Given the description of an element on the screen output the (x, y) to click on. 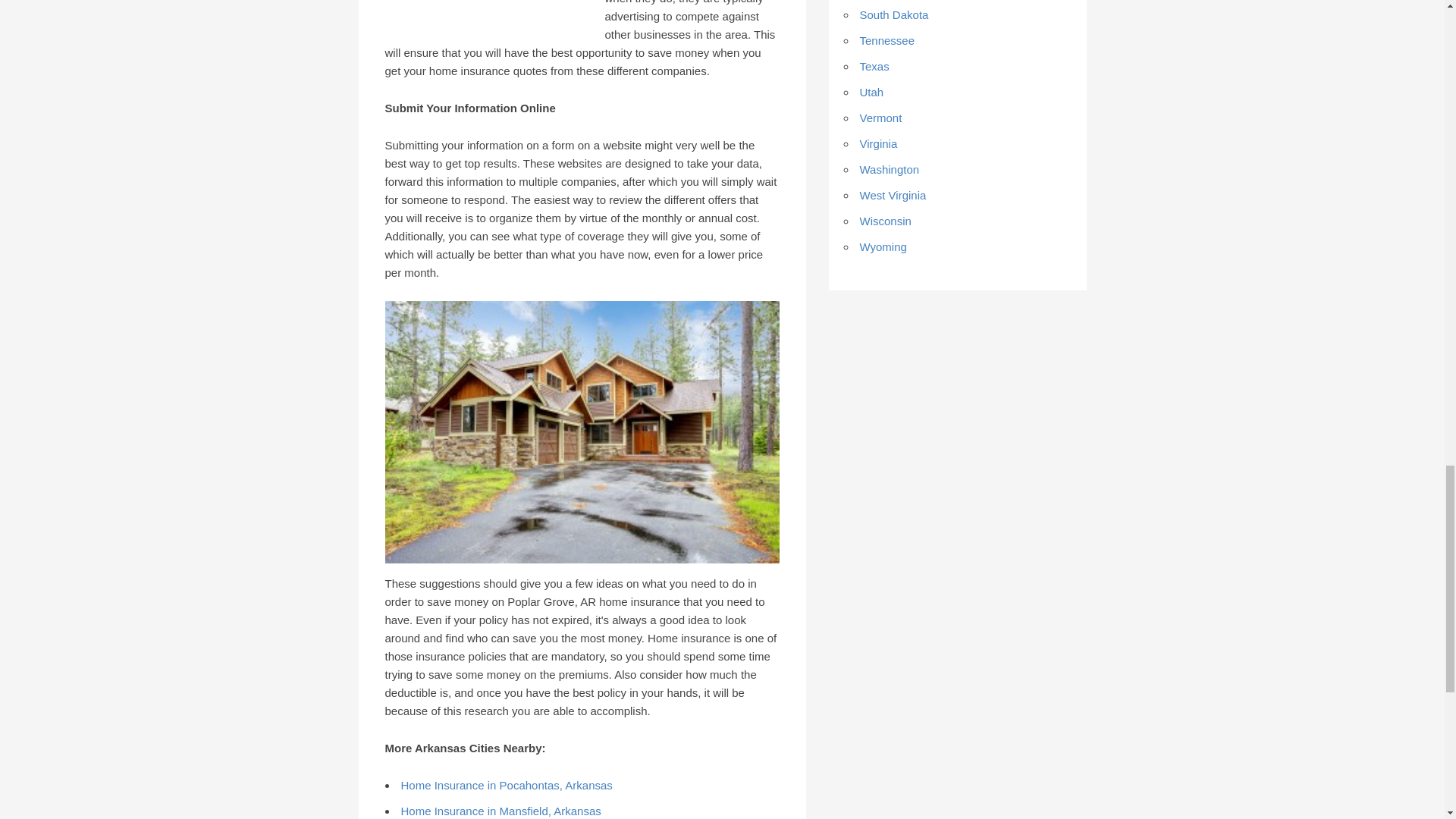
Home Insurance in Mansfield, Arkansas (499, 810)
Home Insurance in Pocahontas, Arkansas (505, 784)
Home Insurance in Mansfield, Arkansas (499, 810)
Home Insurance in Pocahontas, Arkansas (505, 784)
